Given the description of an element on the screen output the (x, y) to click on. 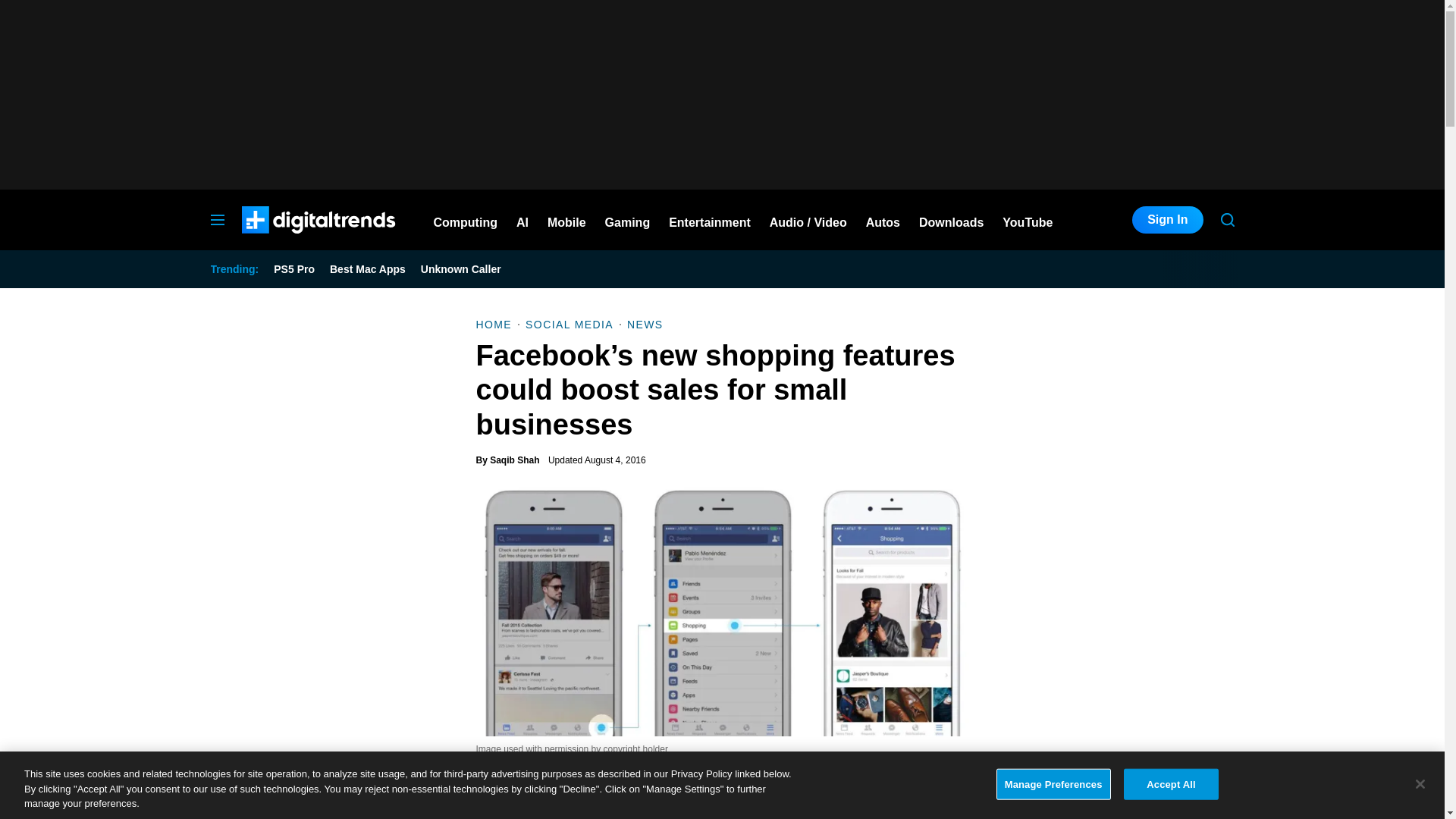
Entertainment (709, 219)
Computing (465, 219)
Sign In (1167, 219)
Downloads (951, 219)
